Given the description of an element on the screen output the (x, y) to click on. 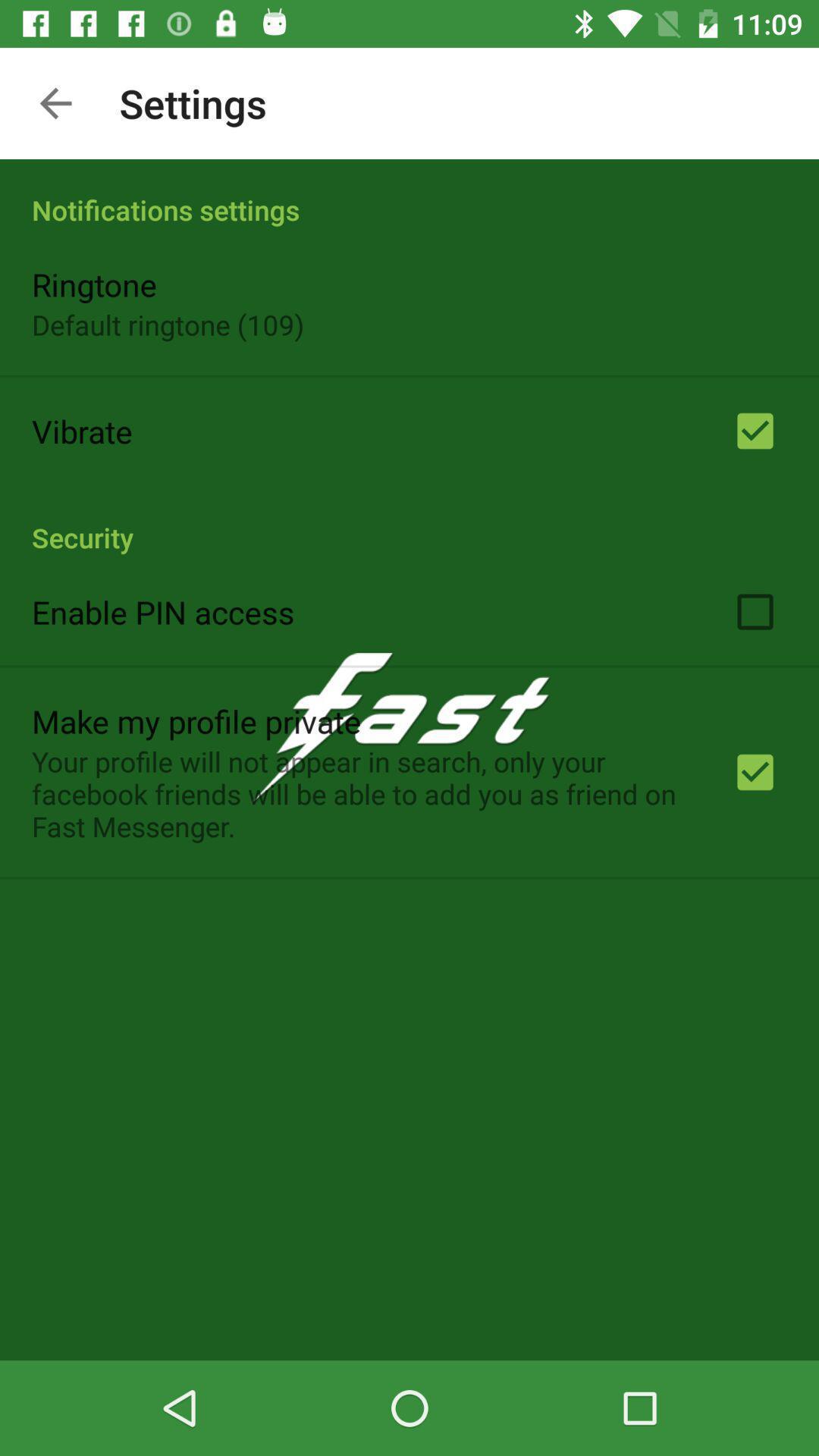
select the icon above make my profile (162, 611)
